Given the description of an element on the screen output the (x, y) to click on. 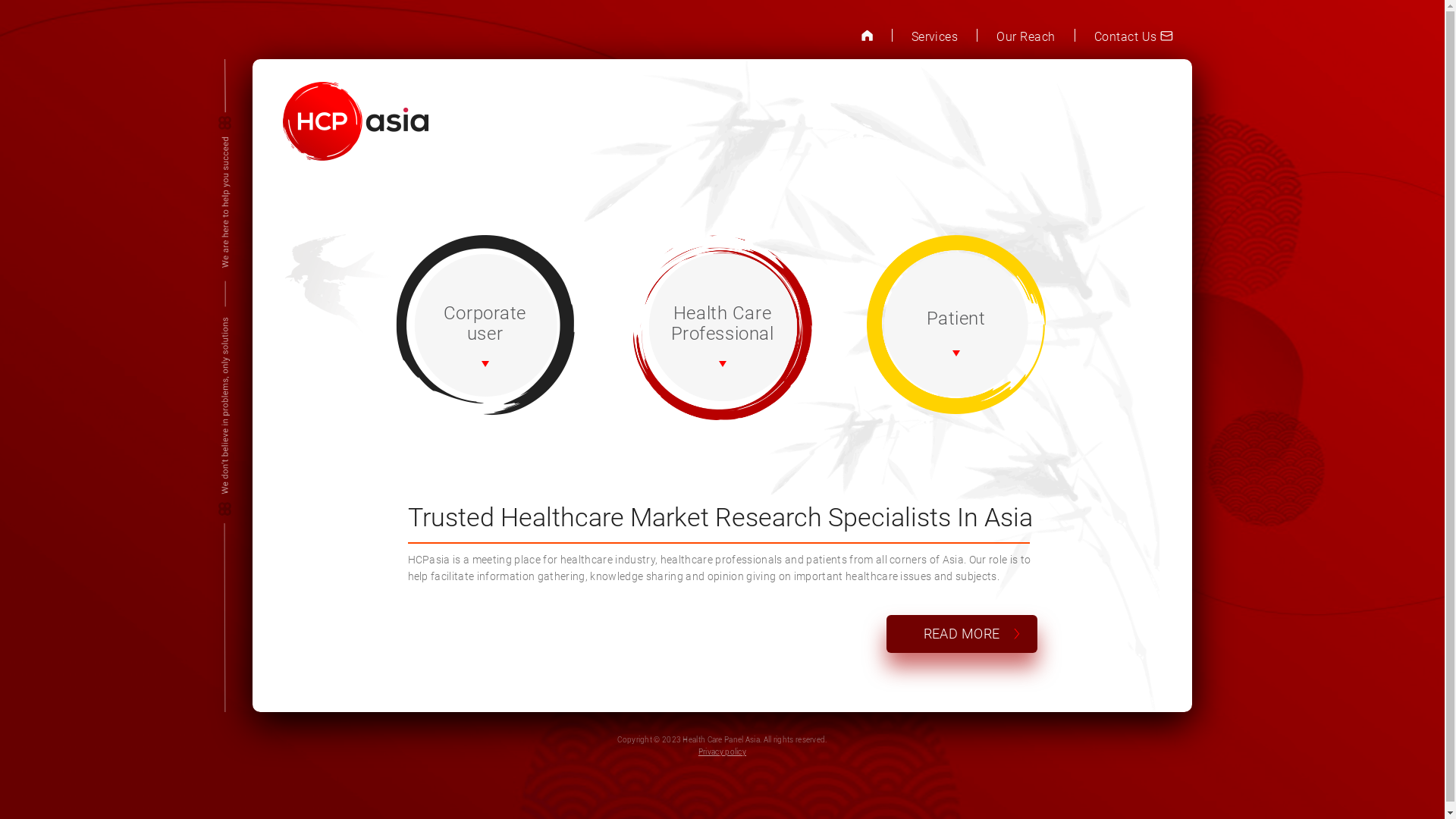
Our Reach Element type: text (1025, 36)
Contact Us Element type: text (1133, 36)
READ MORE Element type: text (960, 633)
Services Element type: text (934, 36)
Privacy policy Element type: text (722, 751)
